Given the description of an element on the screen output the (x, y) to click on. 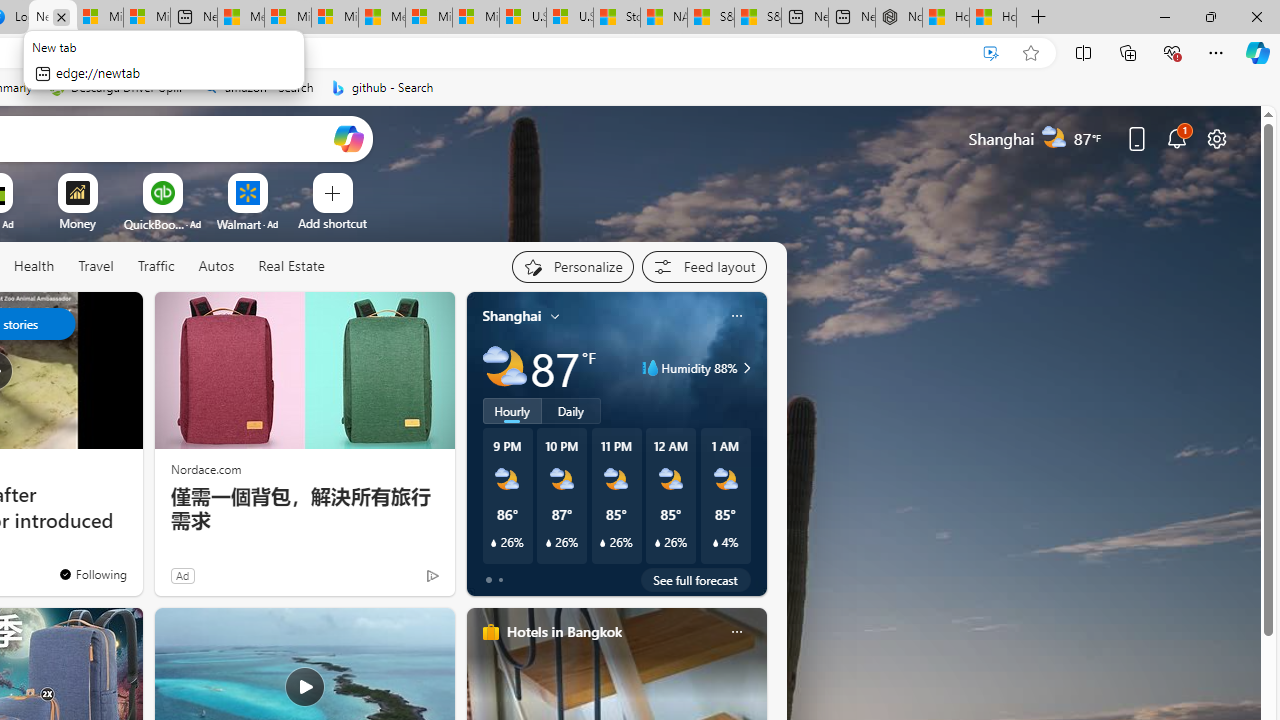
Travel (95, 267)
Class: weather-arrow-glyph (746, 367)
See full forecast (695, 579)
tab-1 (500, 579)
Ad Choice (432, 575)
My location (555, 315)
Class: icon-img (736, 632)
How to Use a Monitor With Your Closed Laptop (993, 17)
amazon - Search (258, 88)
